Given the description of an element on the screen output the (x, y) to click on. 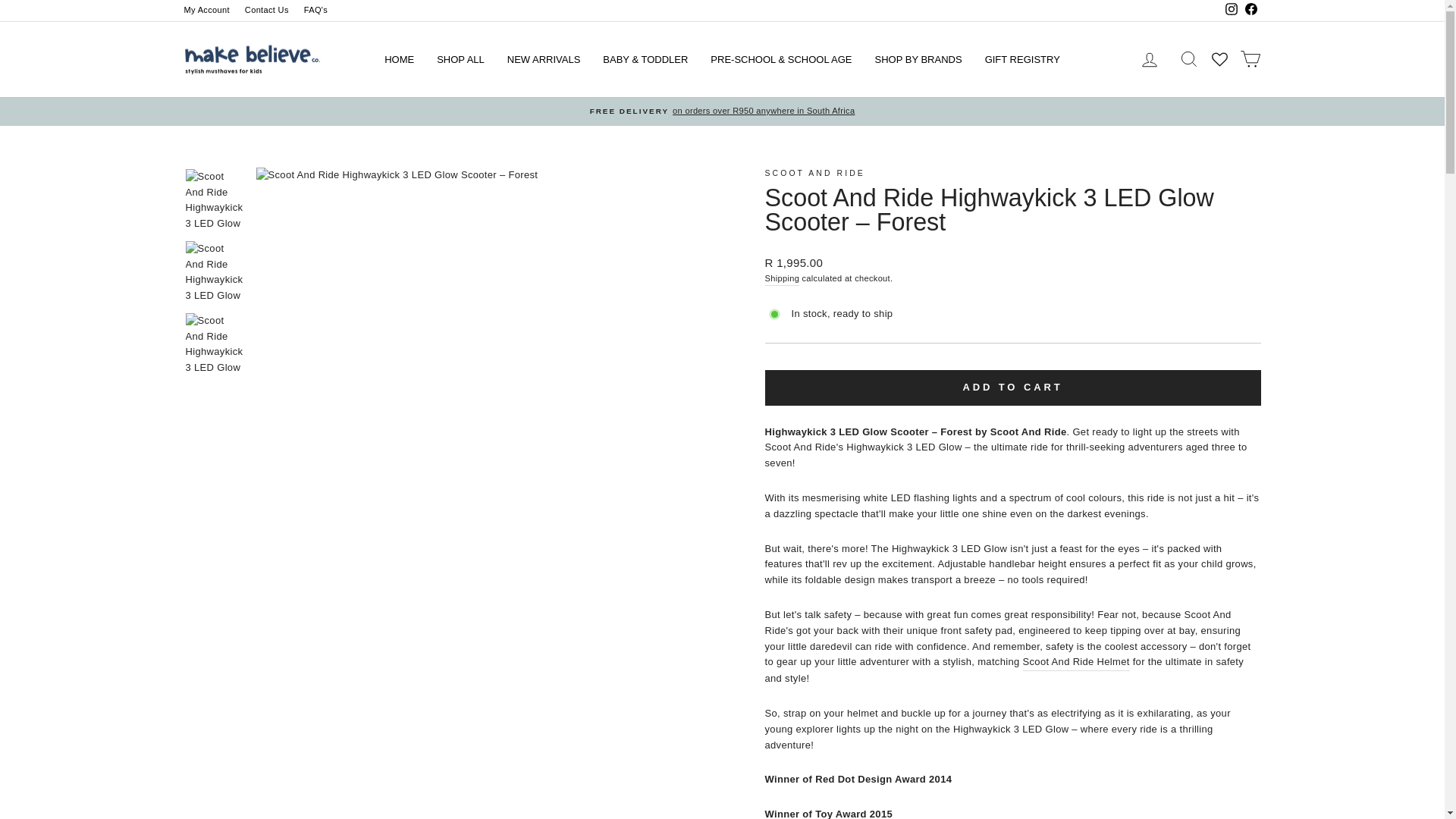
Make Believe Co. on Instagram (1230, 10)
Make Believe Co. on Facebook (1250, 10)
